Given the description of an element on the screen output the (x, y) to click on. 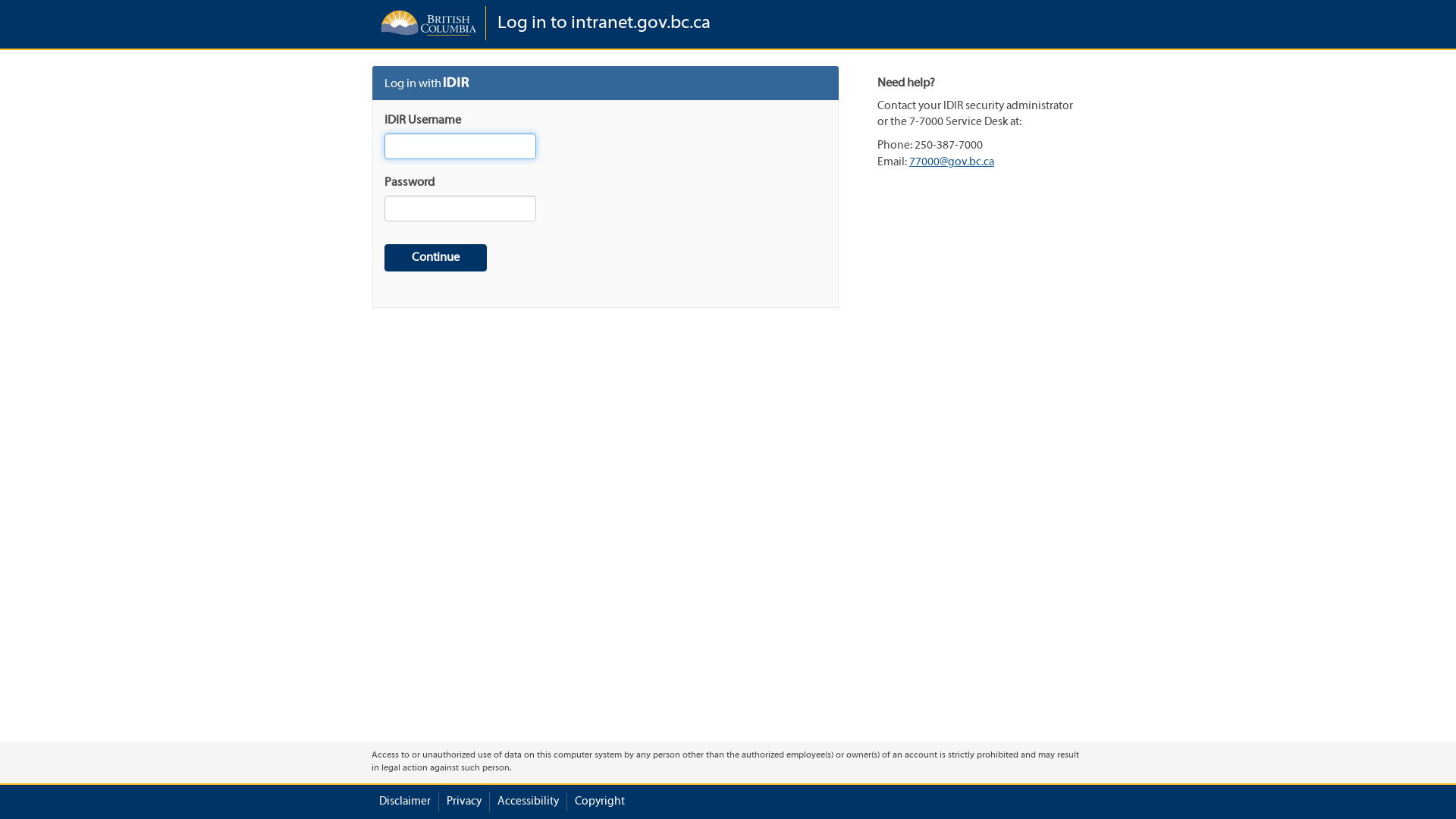
Disclaimer Element type: text (404, 801)
Copyright Element type: text (599, 801)
77000@gov.bc.ca Element type: text (951, 162)
Privacy Element type: text (463, 801)
Accessibility Element type: text (527, 801)
Continue Element type: text (435, 258)
